Given the description of an element on the screen output the (x, y) to click on. 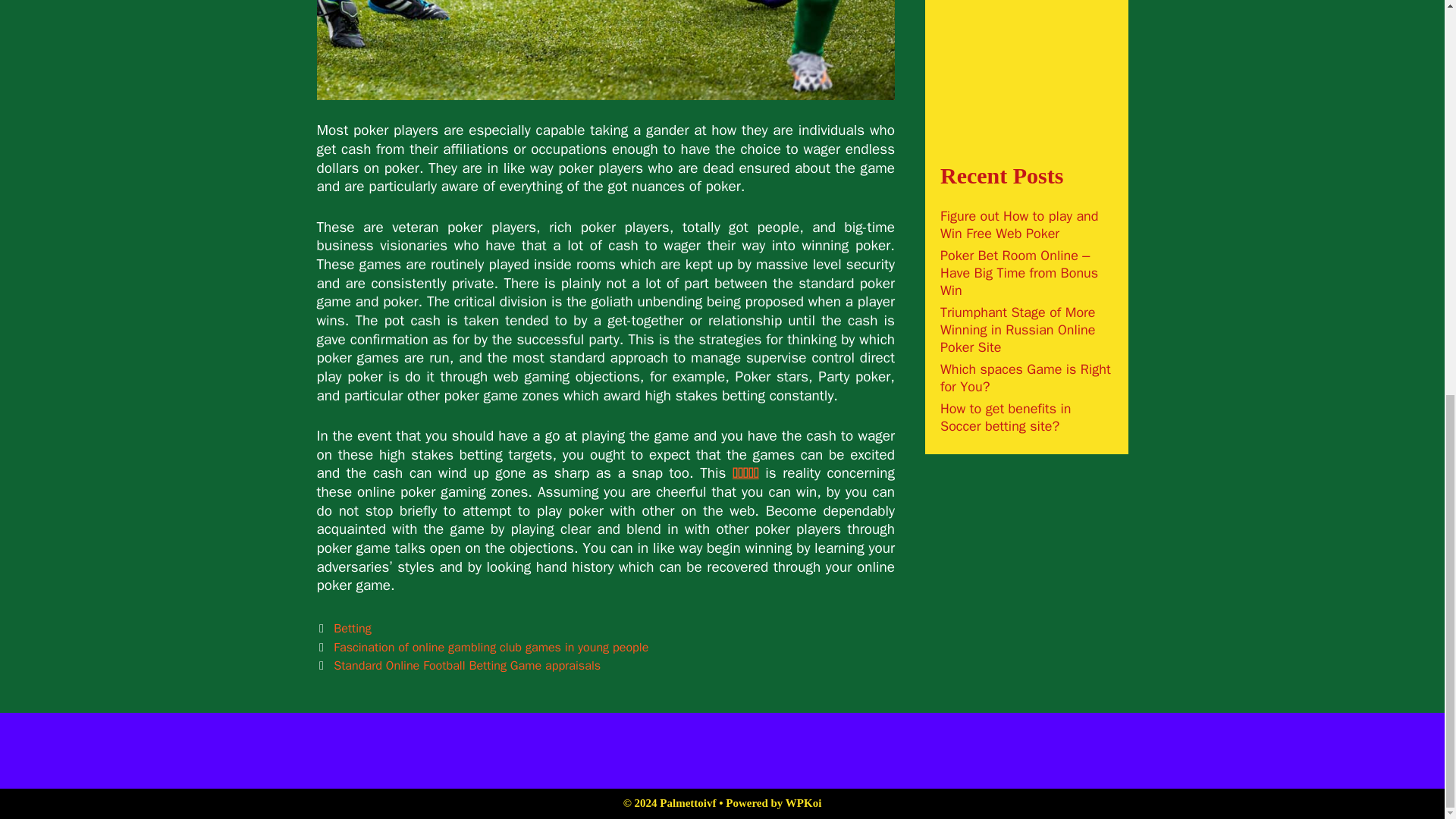
Which spaces Game is Right for You? (1025, 377)
Previous (483, 647)
Figure out How to play and Win Free Web Poker (1019, 224)
Betting (352, 627)
How to get benefits in Soccer betting site? (1005, 417)
Next (459, 665)
WPKoi (804, 802)
Standard Online Football Betting Game appraisals (466, 665)
Fascination of online gambling club games in young people (490, 647)
